Given the description of an element on the screen output the (x, y) to click on. 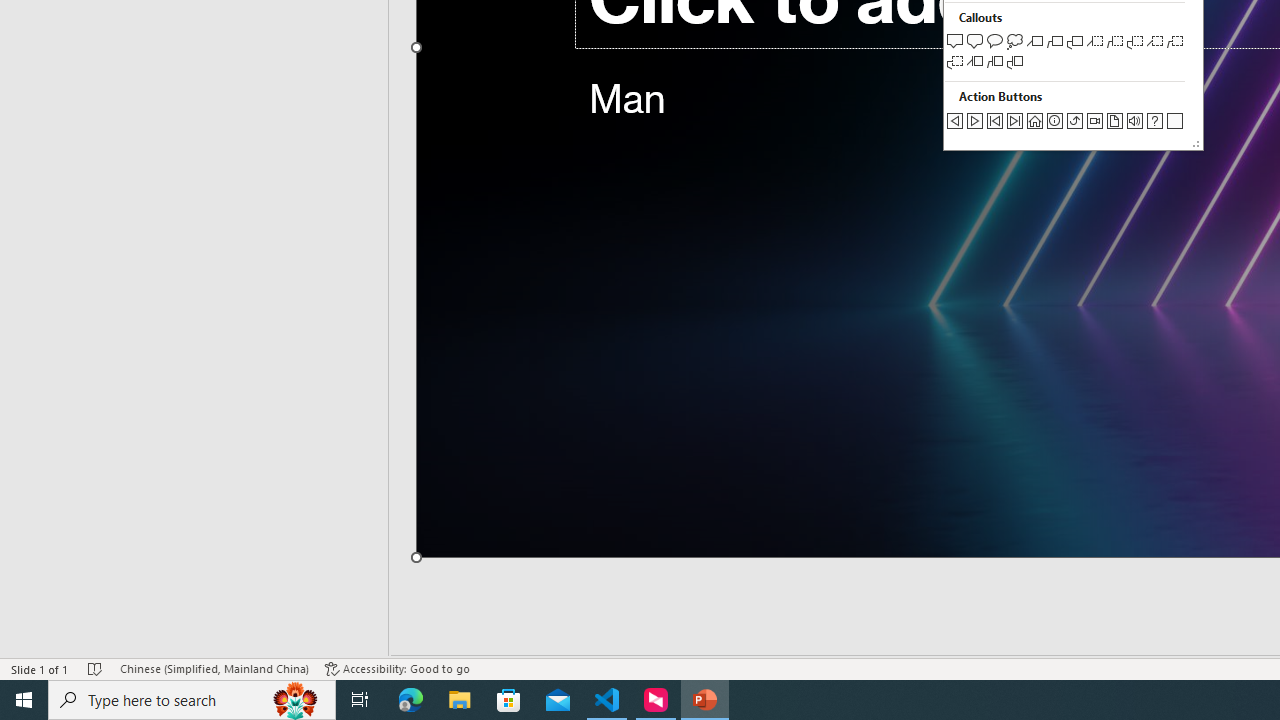
Visual Studio Code - 1 running window (607, 699)
Type here to search (191, 699)
Microsoft Edge (411, 699)
Spell Check No Errors (95, 668)
Accessibility Checker Accessibility: Good to go (397, 668)
PowerPoint - 1 running window (704, 699)
Task View (359, 699)
Search highlights icon opens search home window (295, 699)
Microsoft Store (509, 699)
File Explorer (460, 699)
Start (24, 699)
